Given the description of an element on the screen output the (x, y) to click on. 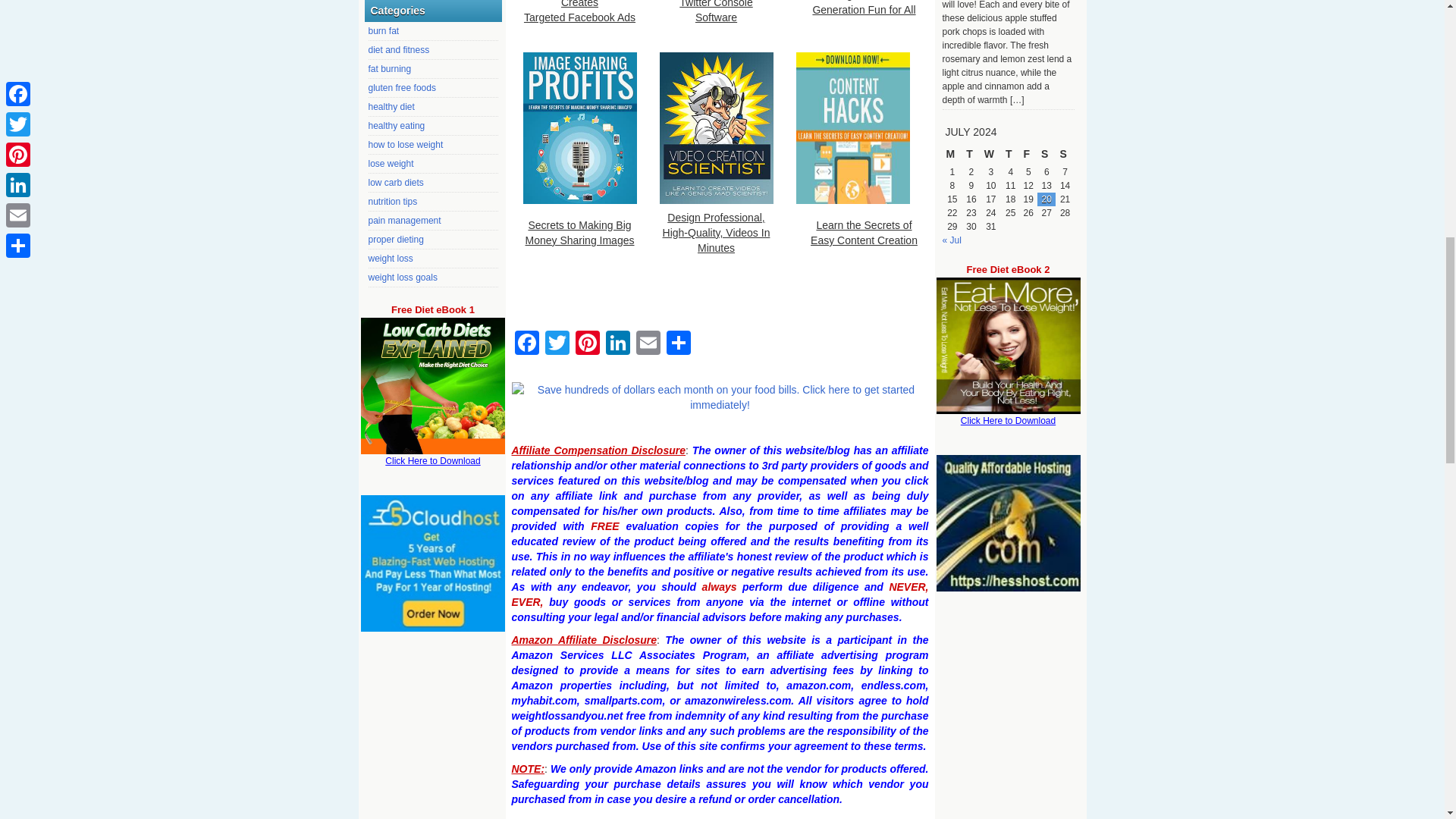
burn fat (383, 30)
